Given the description of an element on the screen output the (x, y) to click on. 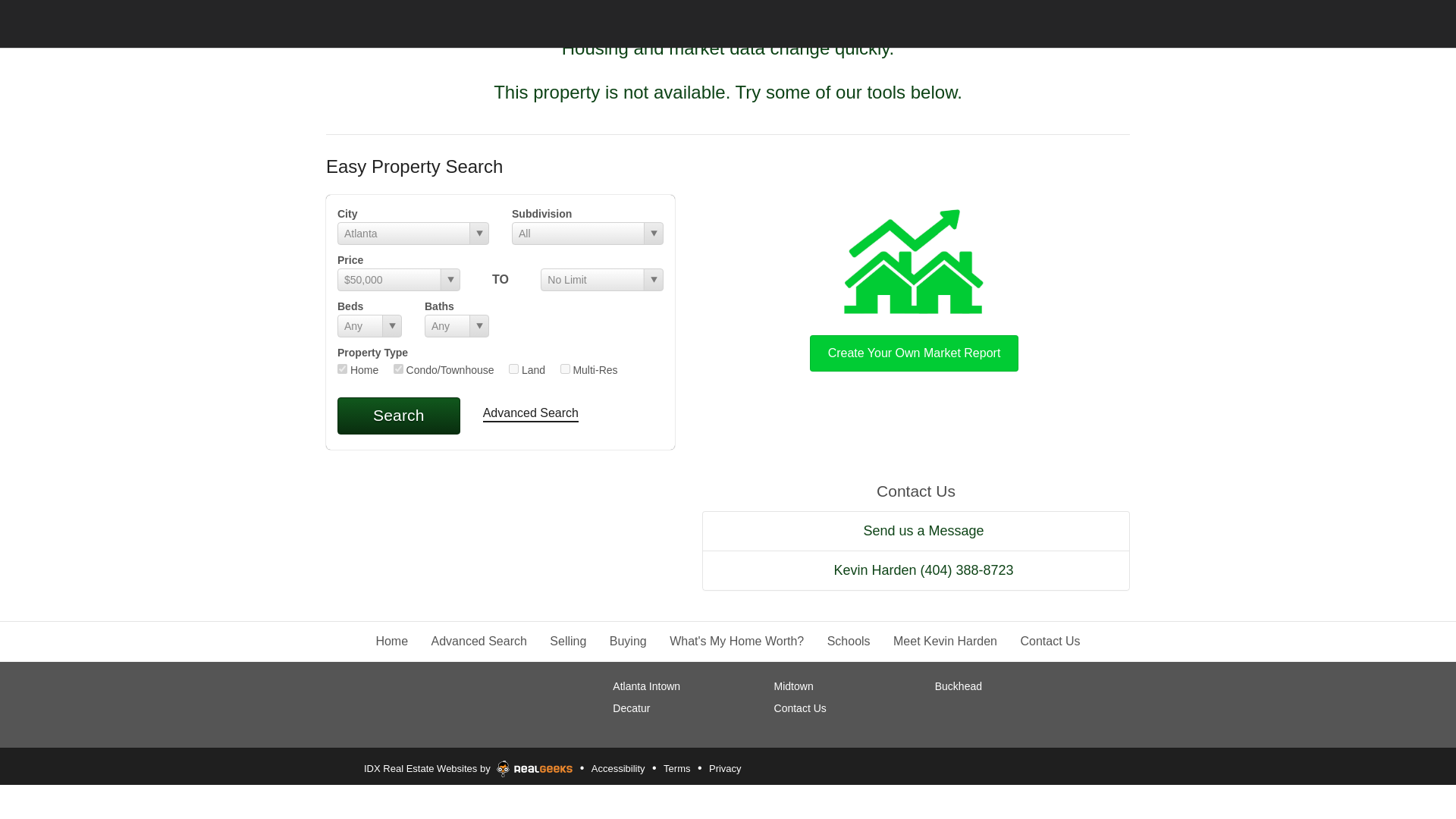
Contact Us (800, 707)
con (398, 368)
What's My Home Worth? (736, 640)
Privacy (724, 768)
Accessibility (618, 768)
Home (391, 640)
res (342, 368)
Decatur (630, 707)
Advanced Search (530, 414)
Advanced Search (478, 640)
